Given the description of an element on the screen output the (x, y) to click on. 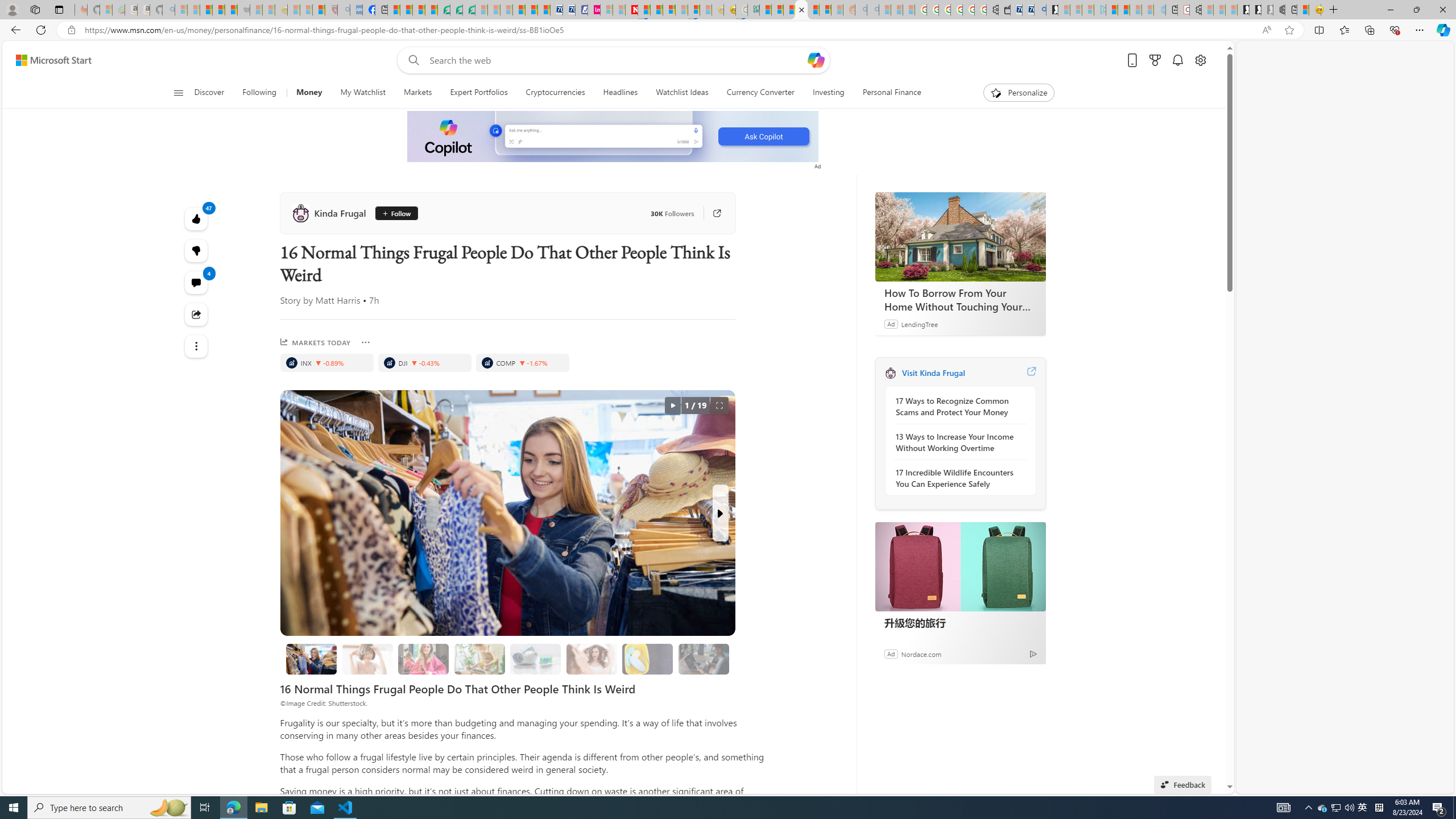
Cheap Car Rentals - Save70.com (1028, 9)
Kinda Frugal (331, 212)
Cheap Hotels - Save70.com (568, 9)
New Report Confirms 2023 Was Record Hot | Watch (230, 9)
